Given the description of an element on the screen output the (x, y) to click on. 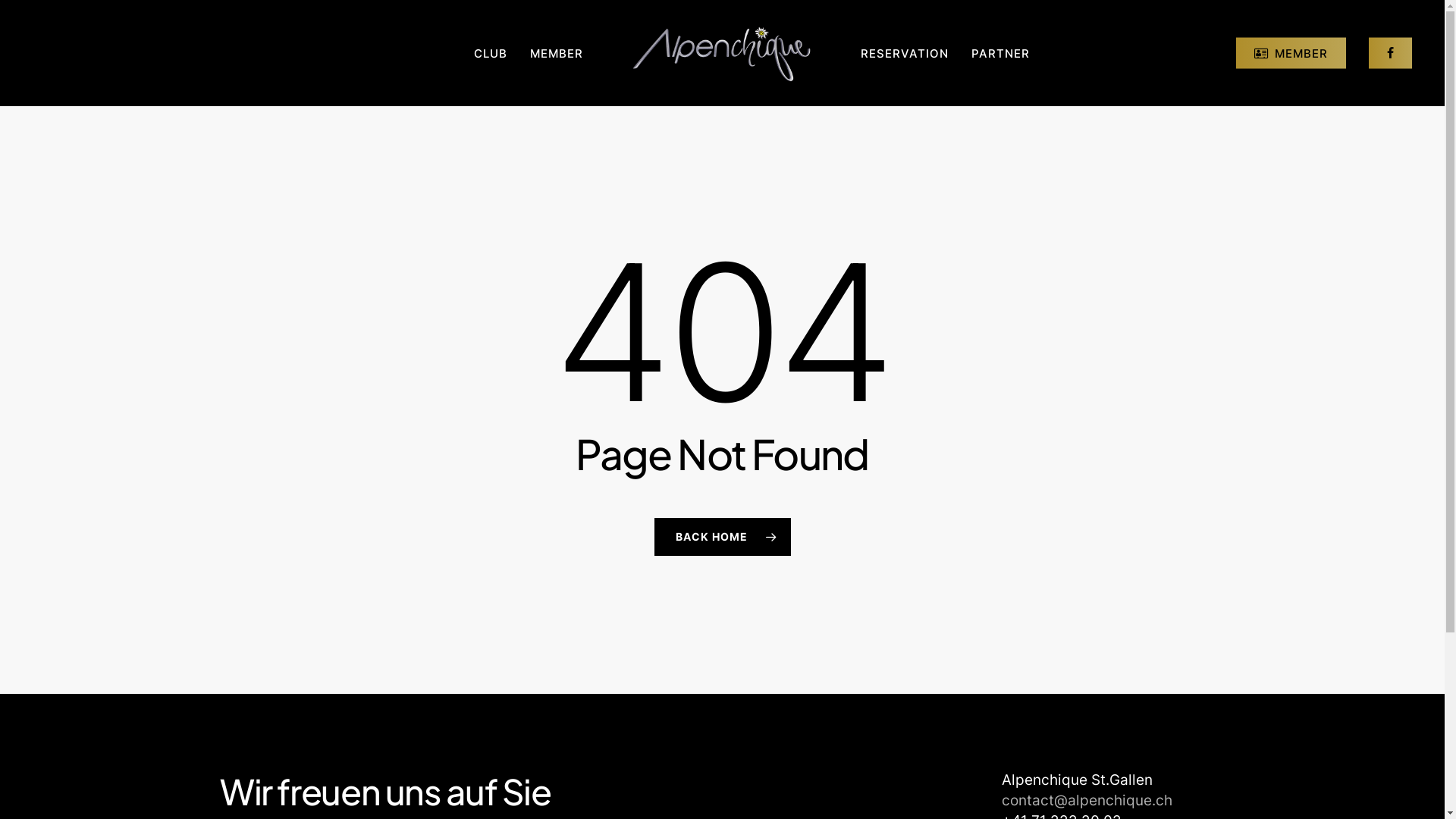
PARTNER Element type: text (1000, 53)
BACK HOME Element type: text (721, 536)
MEMBER Element type: text (556, 53)
CLUB Element type: text (490, 53)
MEMBER Element type: text (1291, 53)
contact@alpenchique.ch Element type: text (1086, 800)
RESERVATION Element type: text (904, 53)
